Given the description of an element on the screen output the (x, y) to click on. 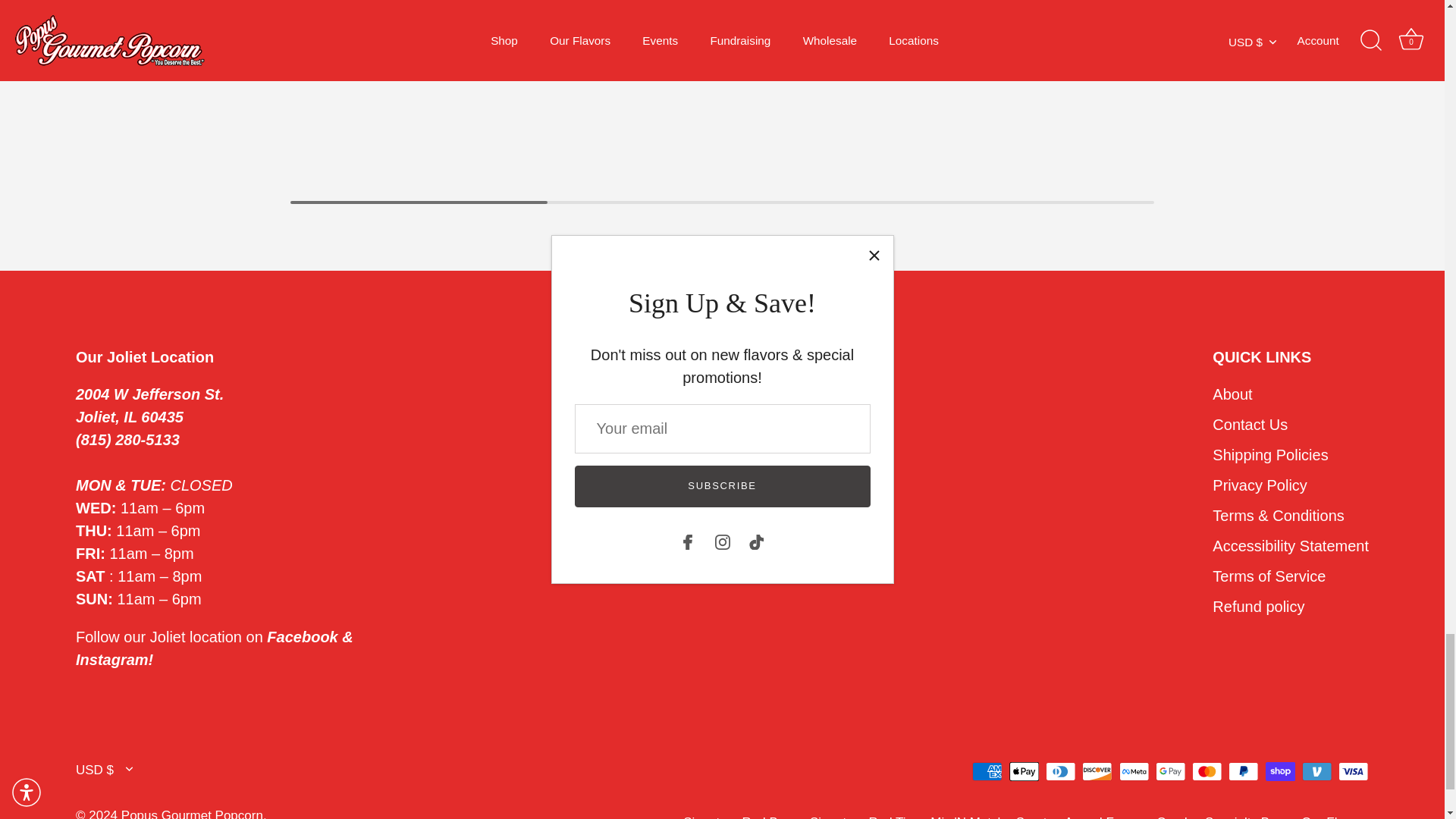
Meta Pay (1133, 771)
Apple Pay (1024, 771)
Diners Club (1060, 771)
Google Pay (1170, 771)
PayPal (1242, 771)
American Express (986, 771)
Discover (1096, 771)
Mastercard (1206, 771)
